Given the description of an element on the screen output the (x, y) to click on. 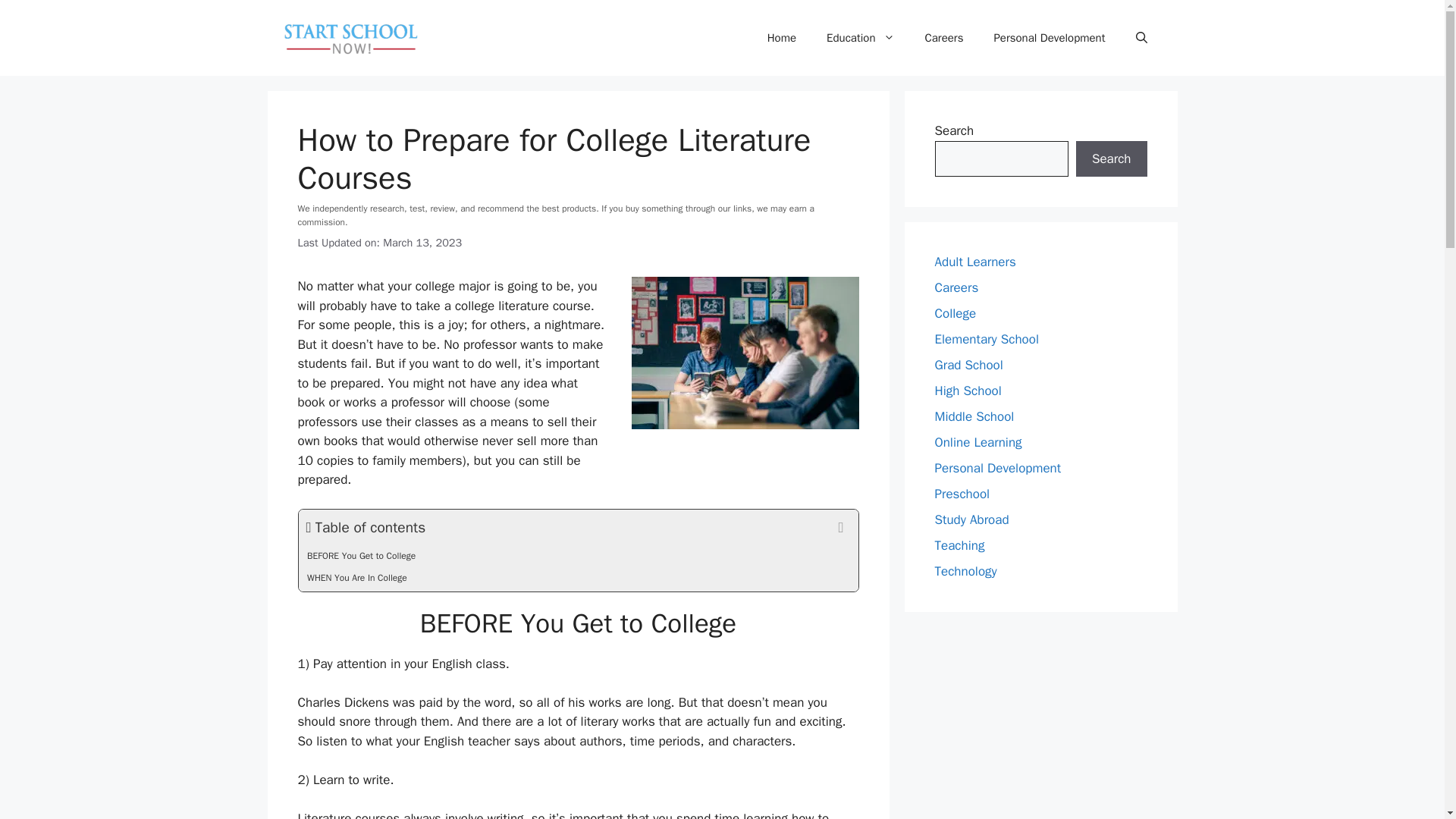
Home (781, 37)
Careers (944, 37)
Education (859, 37)
Personal Development (1048, 37)
WHEN You Are In College (578, 579)
Adult Learners (974, 261)
Search (1111, 158)
BEFORE You Get to College (578, 557)
